Given the description of an element on the screen output the (x, y) to click on. 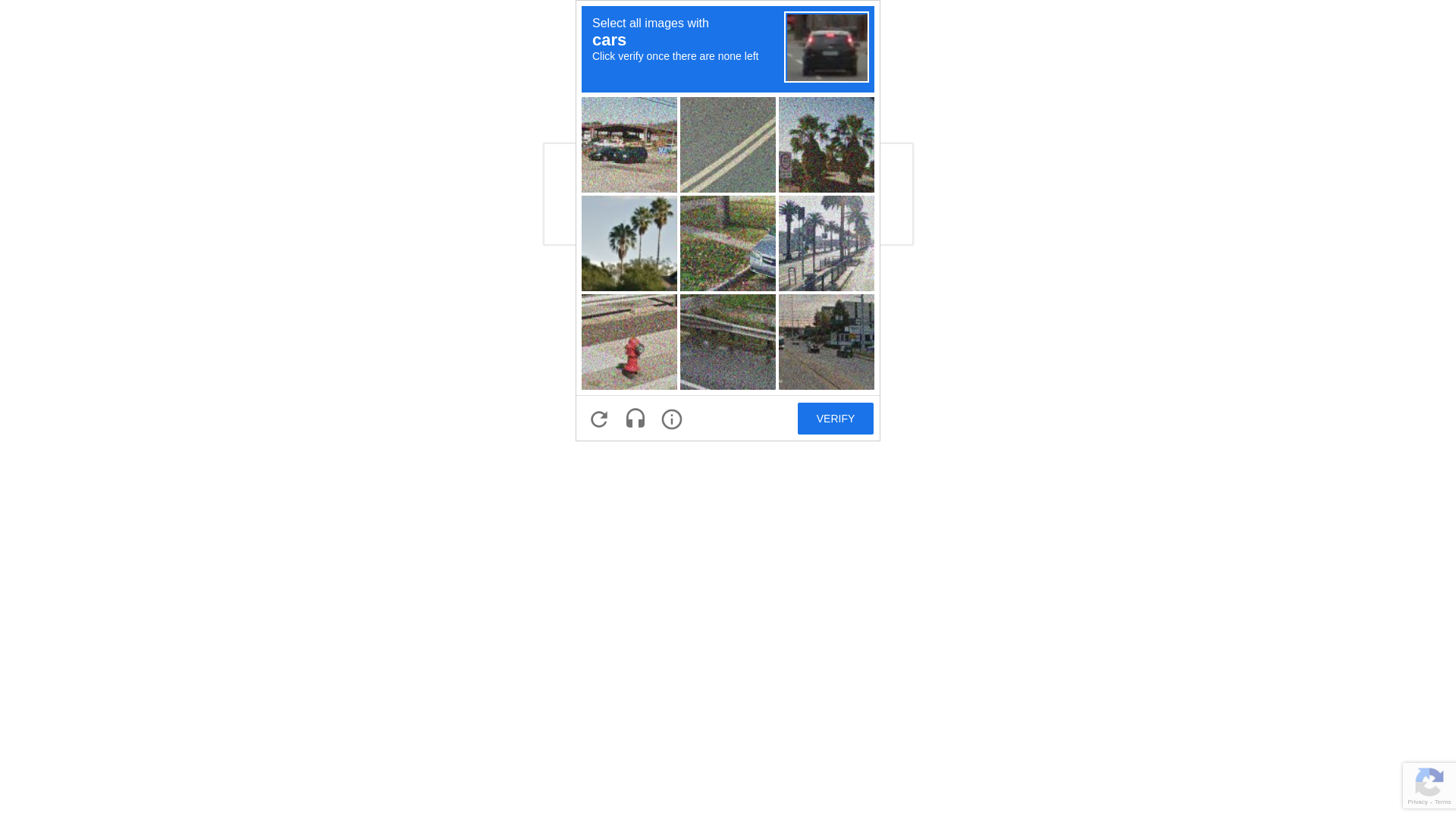
recaptcha challenge expires in two minutes Element type: hover (727, 220)
